Given the description of an element on the screen output the (x, y) to click on. 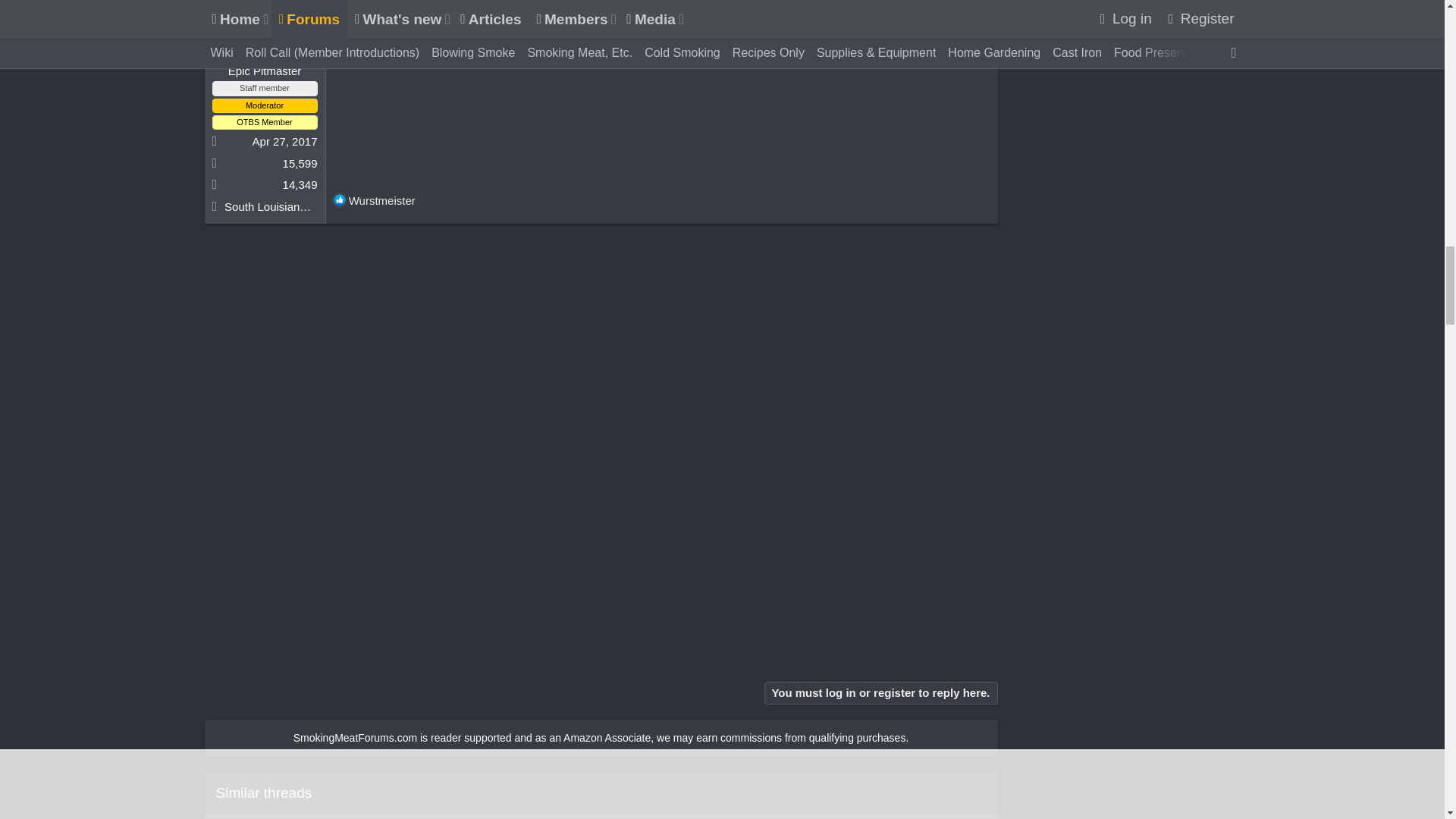
First message reaction score: 0 (761, 817)
Like (339, 200)
